Given the description of an element on the screen output the (x, y) to click on. 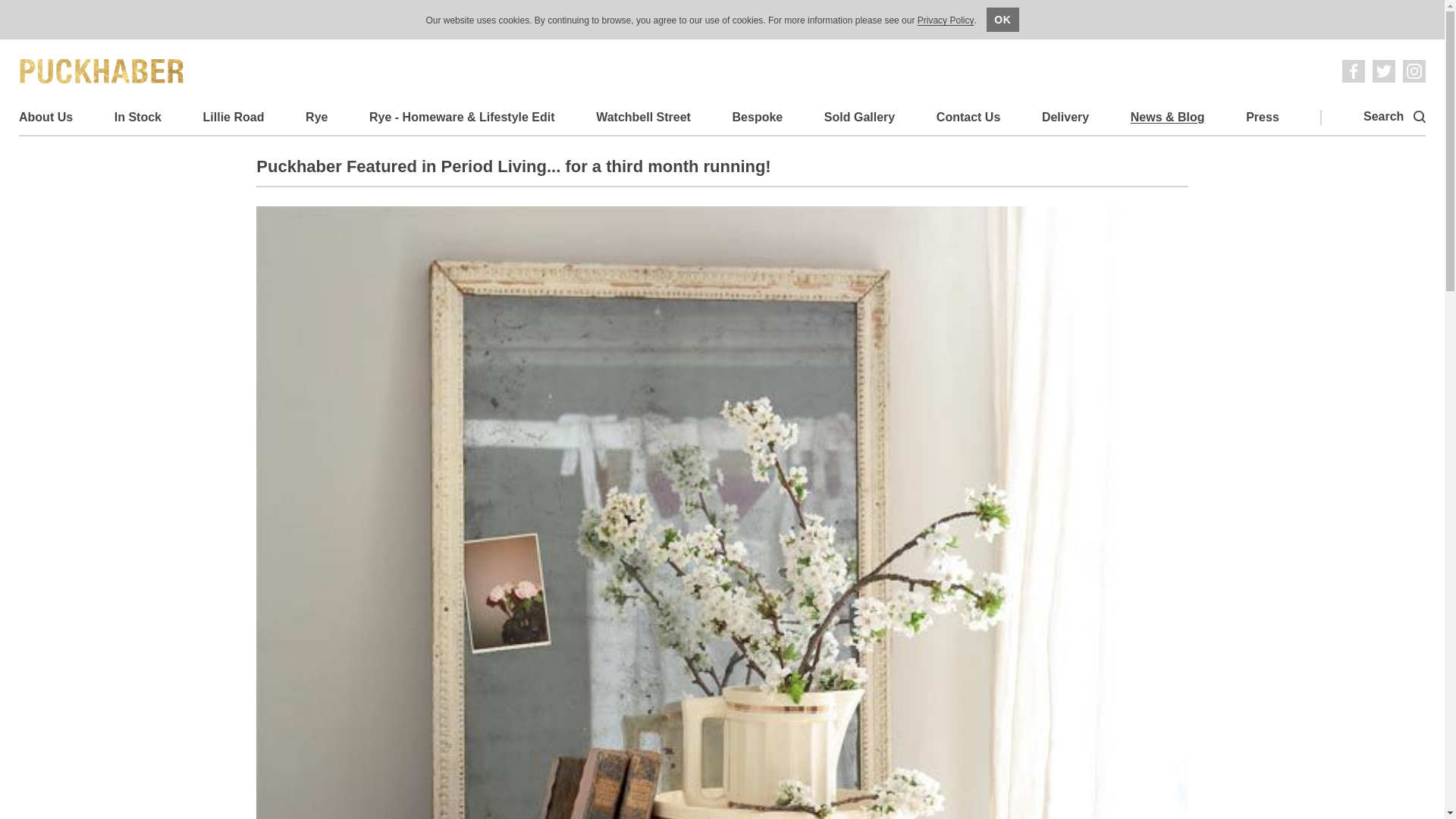
Contact Us (968, 117)
Search (1393, 117)
Watchbell Street (642, 117)
Puckhaber Decorative Antiques (102, 71)
About Us (45, 117)
Bespoke (757, 117)
Delivery (1065, 117)
Sold Gallery (859, 117)
OK (1002, 19)
Rye (316, 117)
Privacy Policy (945, 21)
Press (1262, 117)
Lillie Road (233, 117)
In Stock (138, 117)
